Given the description of an element on the screen output the (x, y) to click on. 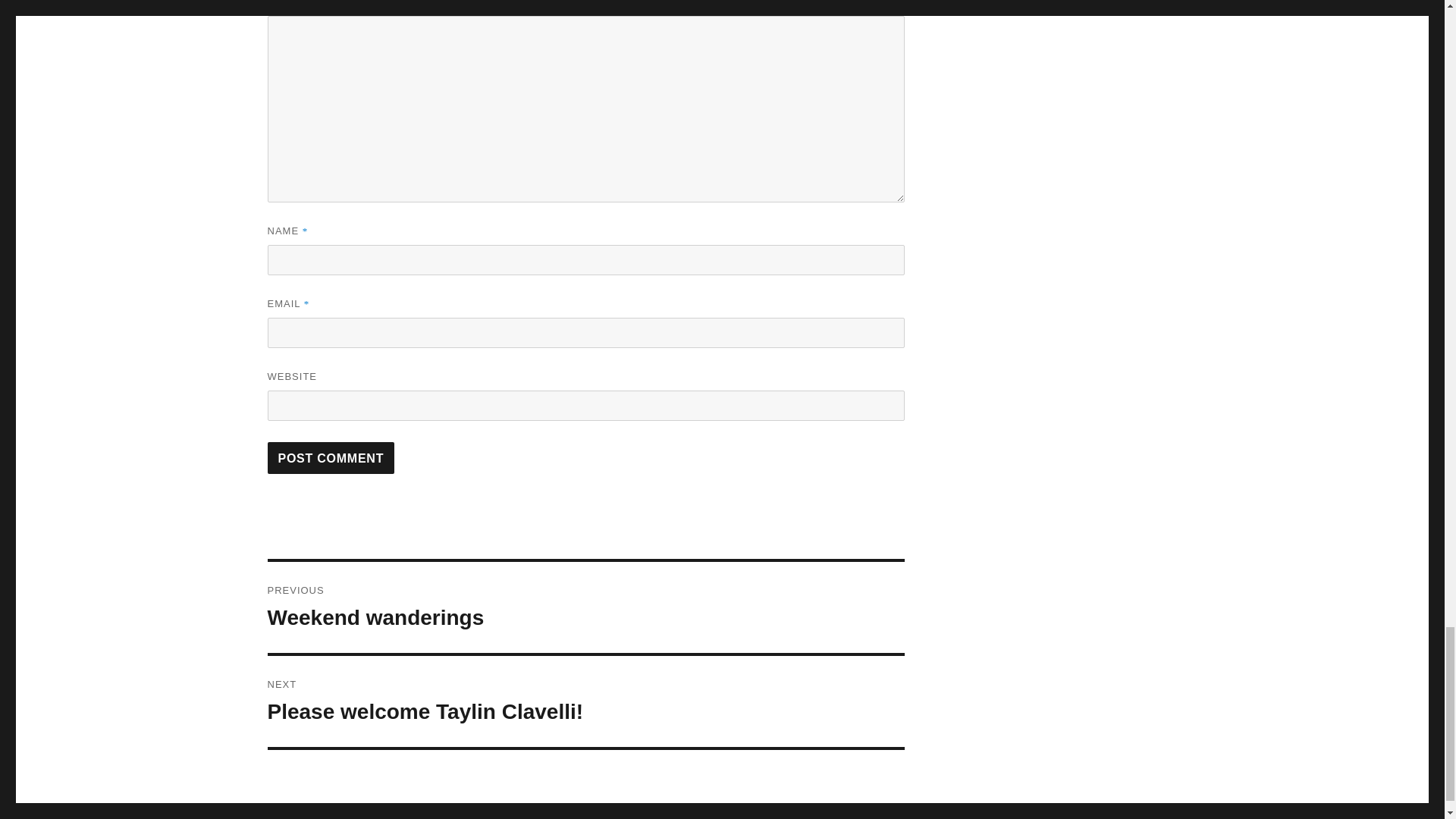
Post Comment (330, 458)
Post Comment (585, 606)
